Given the description of an element on the screen output the (x, y) to click on. 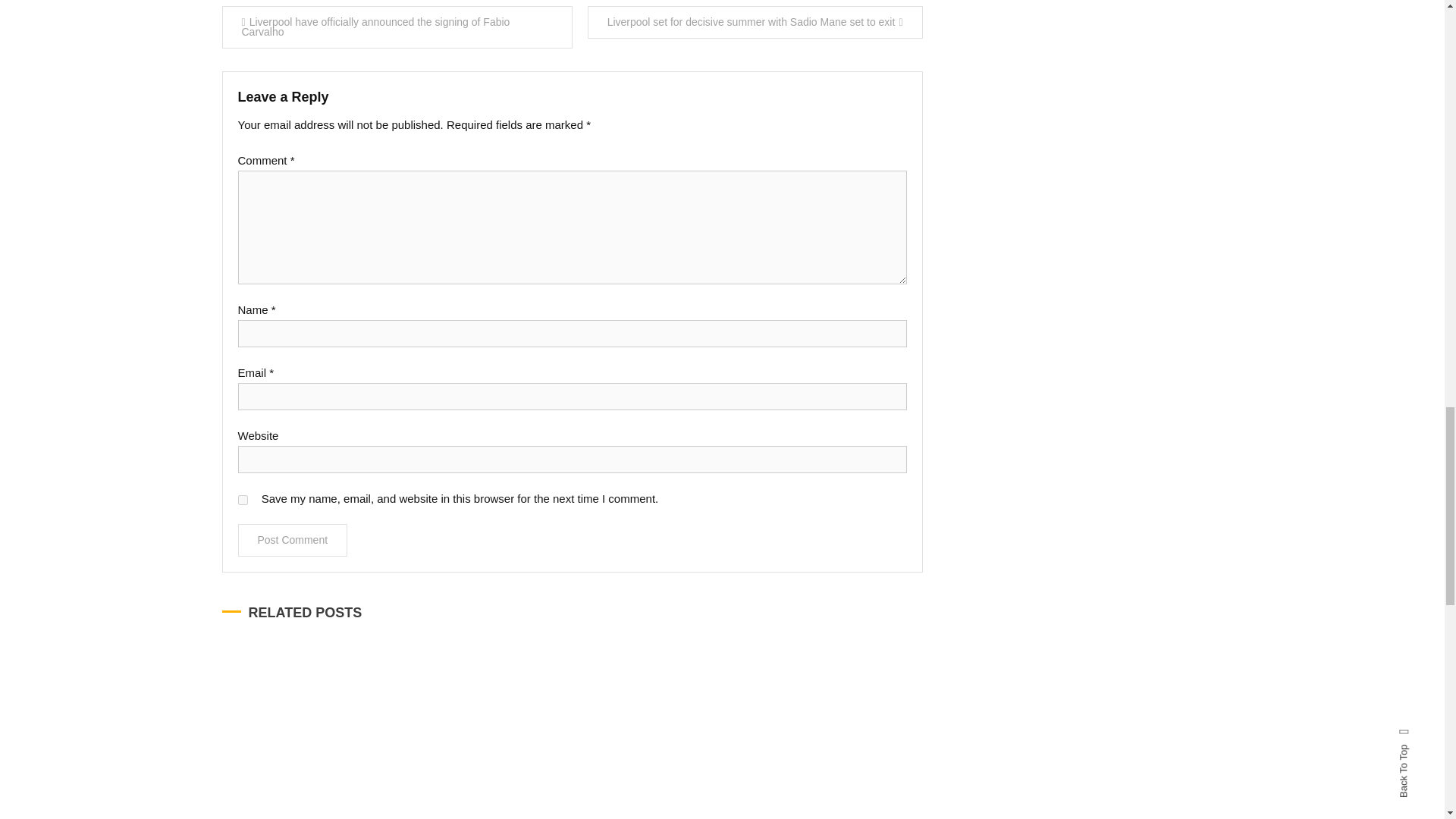
Post Comment (292, 540)
yes (242, 500)
Post Comment (292, 540)
